Given the description of an element on the screen output the (x, y) to click on. 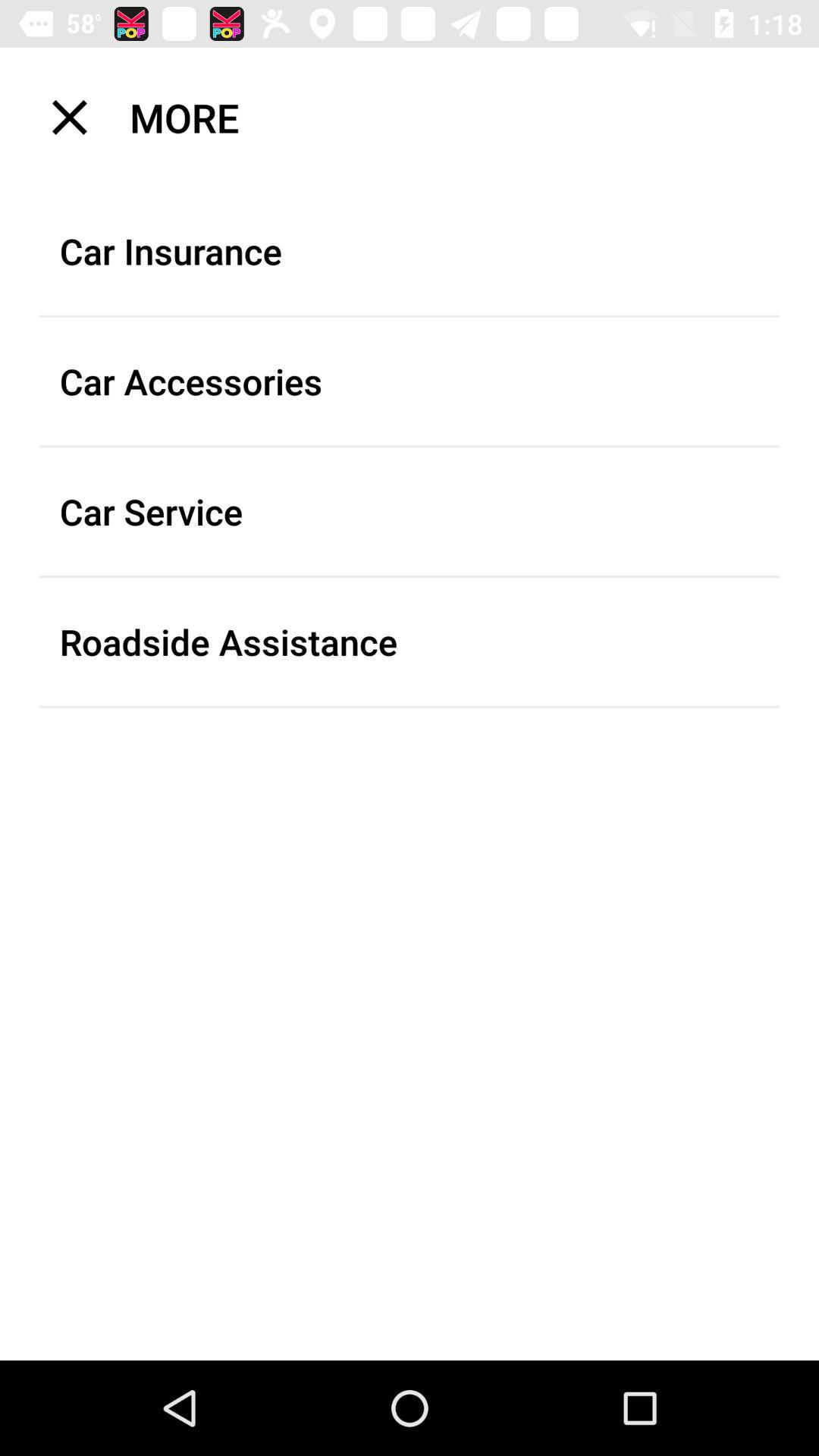
swipe until more item (419, 117)
